Given the description of an element on the screen output the (x, y) to click on. 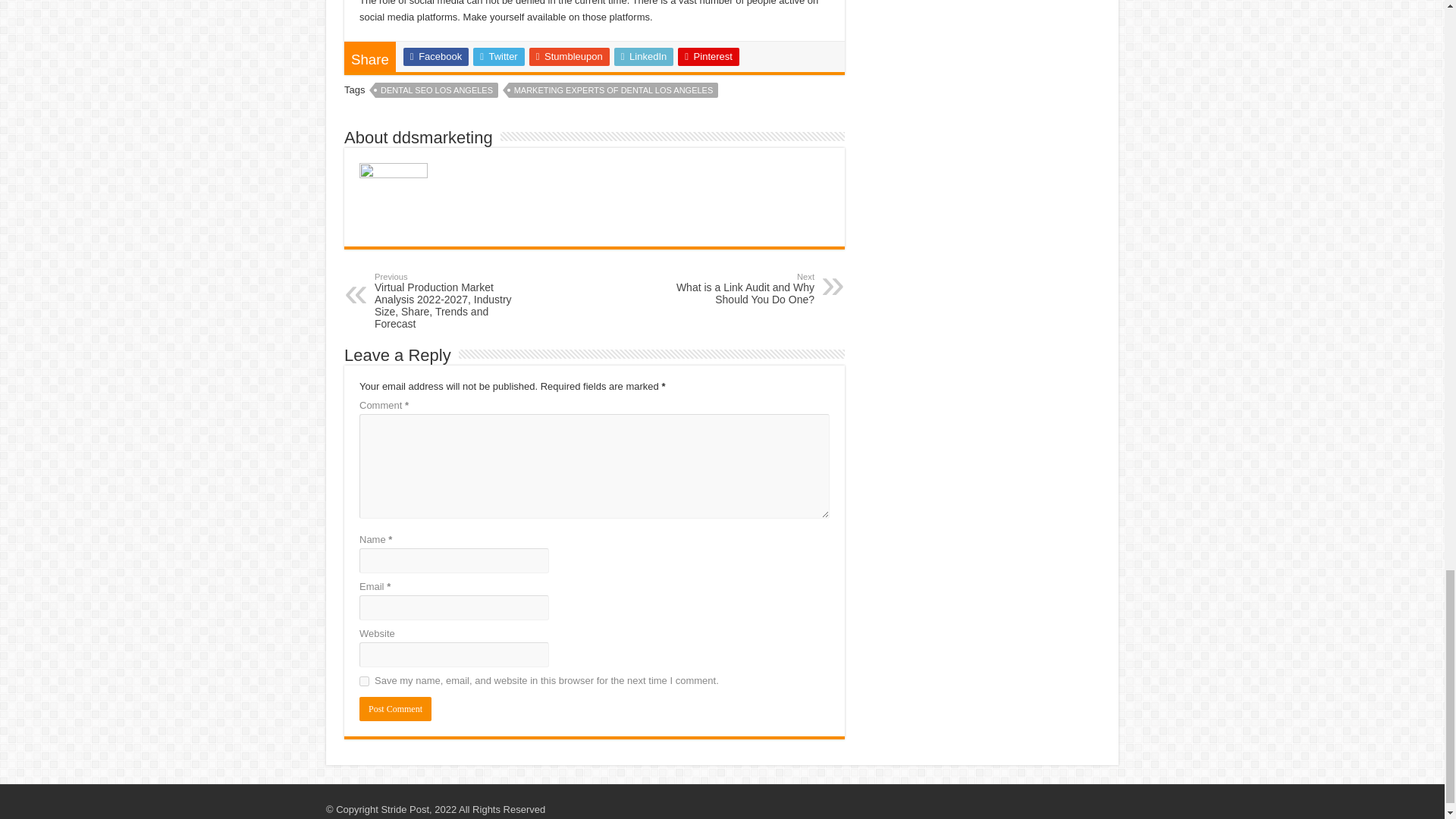
yes (364, 681)
Post Comment (394, 708)
